Given the description of an element on the screen output the (x, y) to click on. 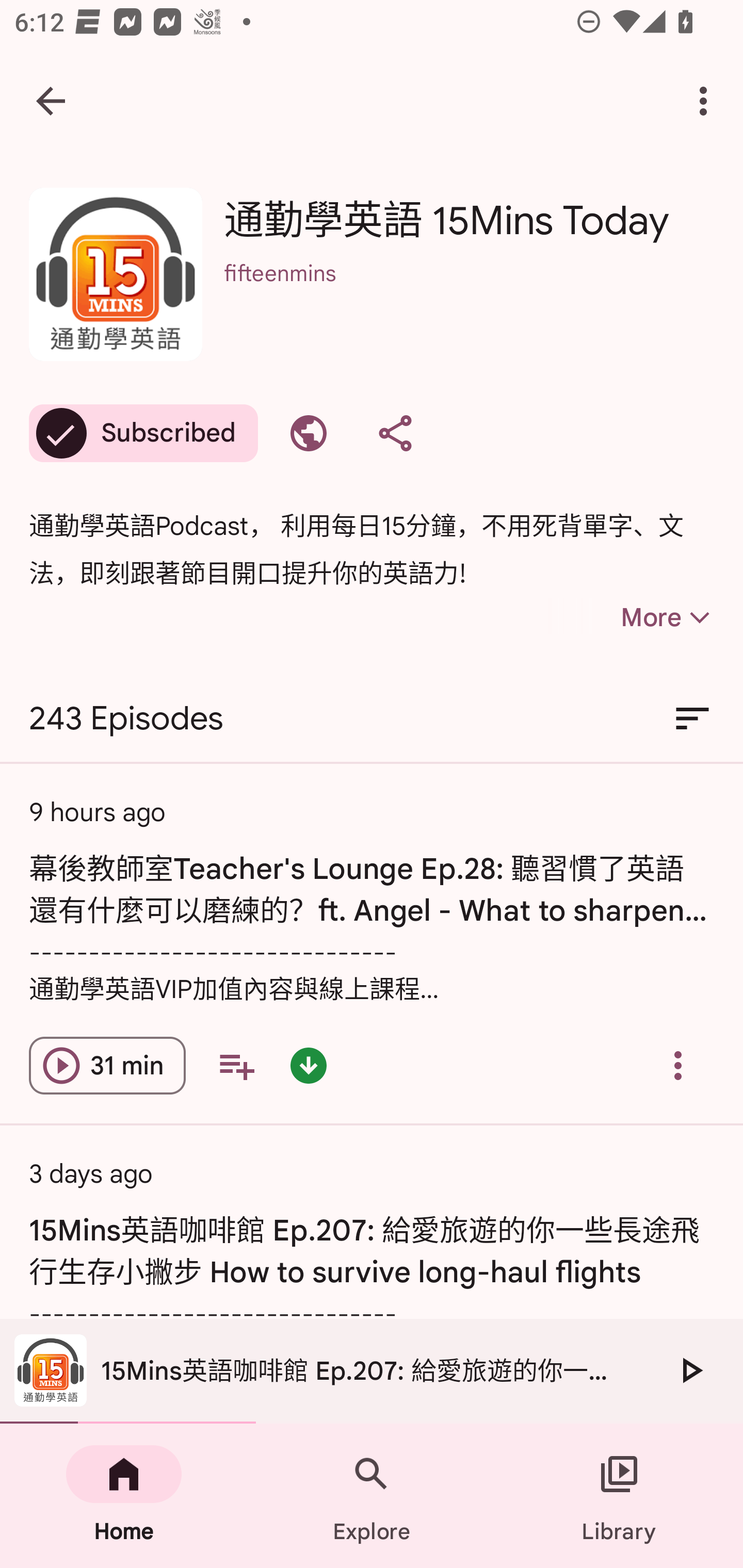
Navigate up (50, 101)
More options (706, 101)
fifteenmins (468, 300)
Subscribed (142, 433)
Visit website (308, 433)
Share (395, 433)
More (631, 616)
Sort (692, 718)
Add to your queue (235, 1065)
Episode downloaded - double tap for options (308, 1065)
Overflow menu (677, 1065)
Play (690, 1370)
Explore (371, 1495)
Library (619, 1495)
